Given the description of an element on the screen output the (x, y) to click on. 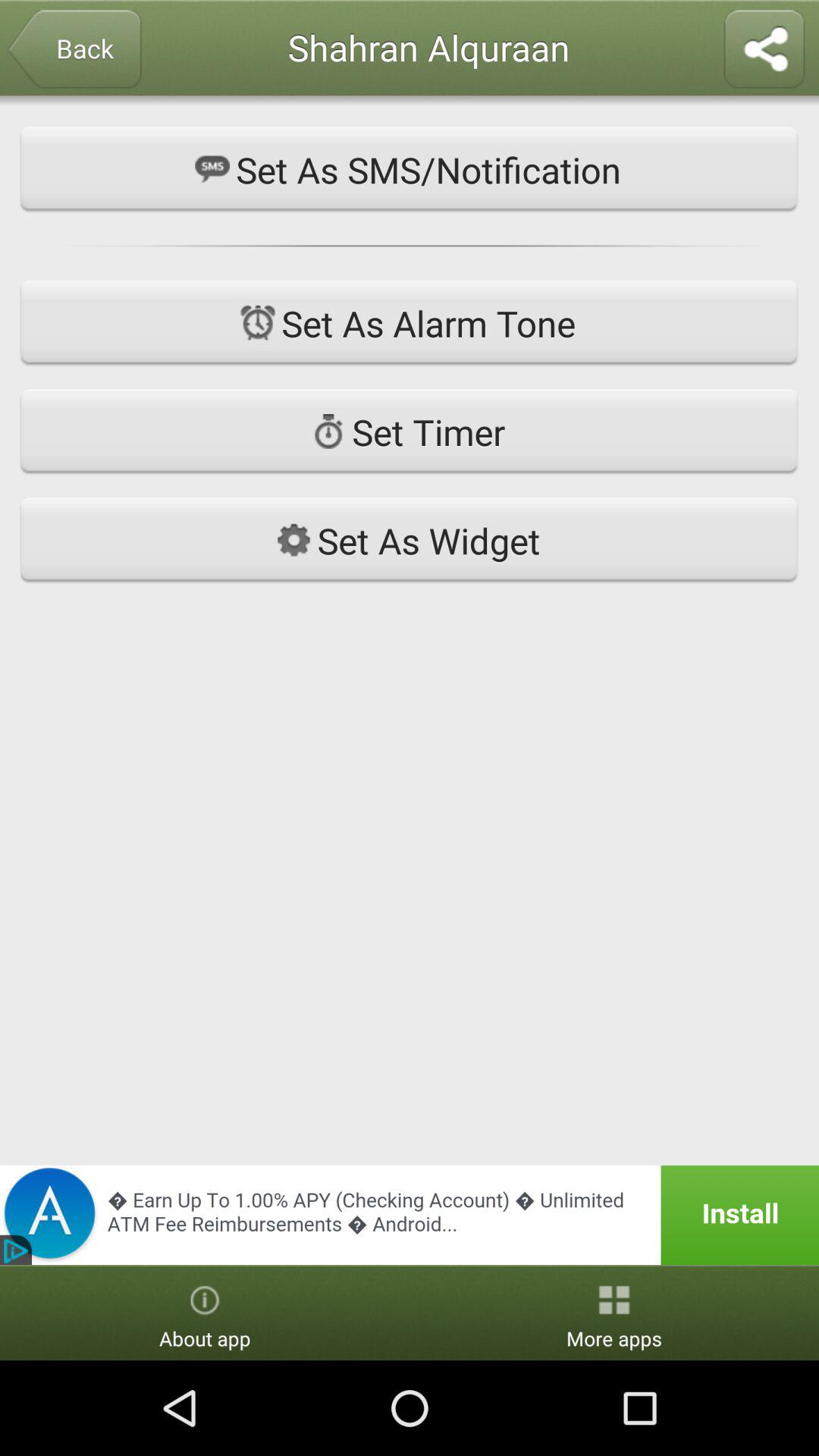
install app from advertisement (409, 1214)
